Given the description of an element on the screen output the (x, y) to click on. 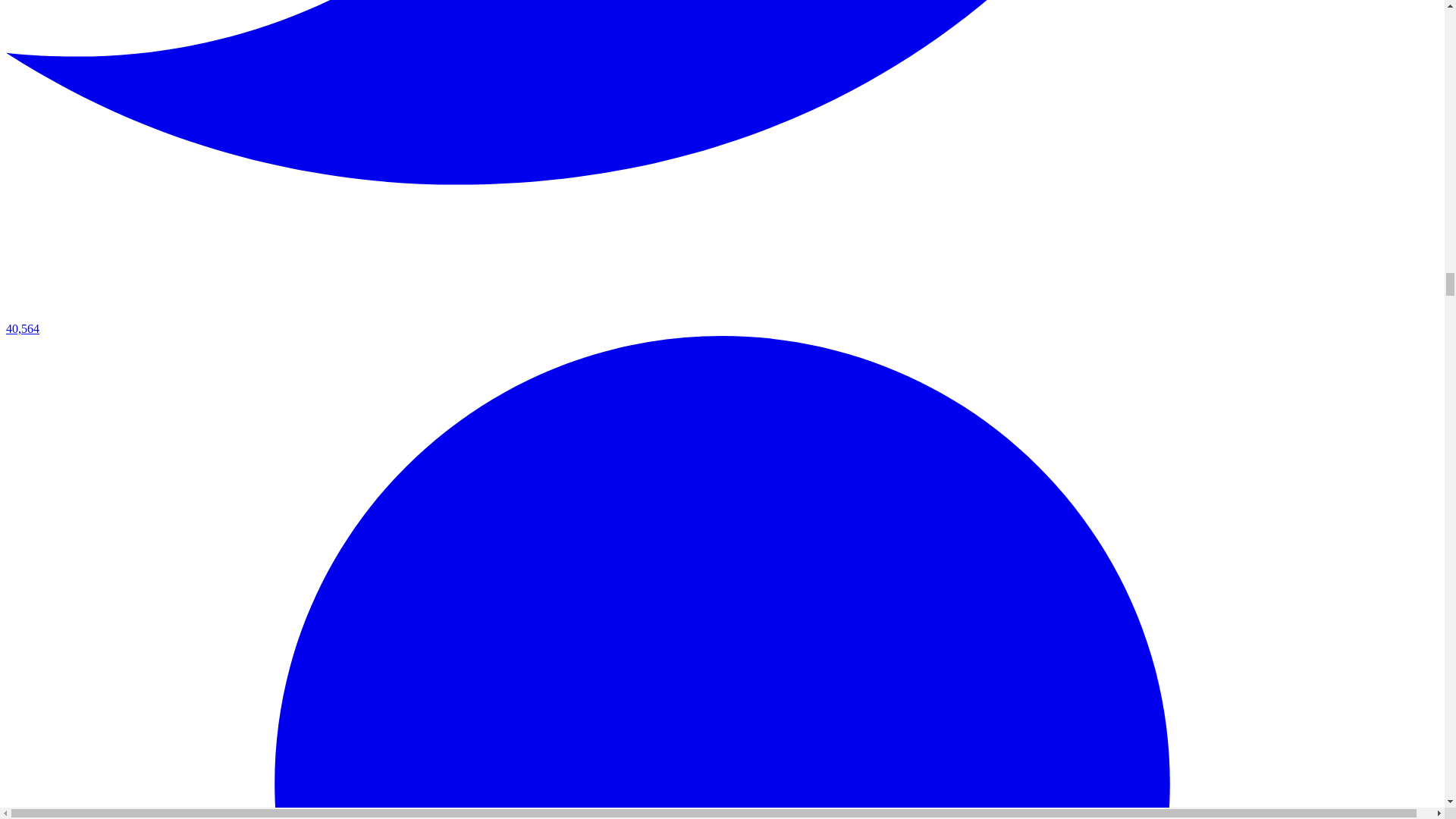
40,564 Tweets (721, 321)
